Given the description of an element on the screen output the (x, y) to click on. 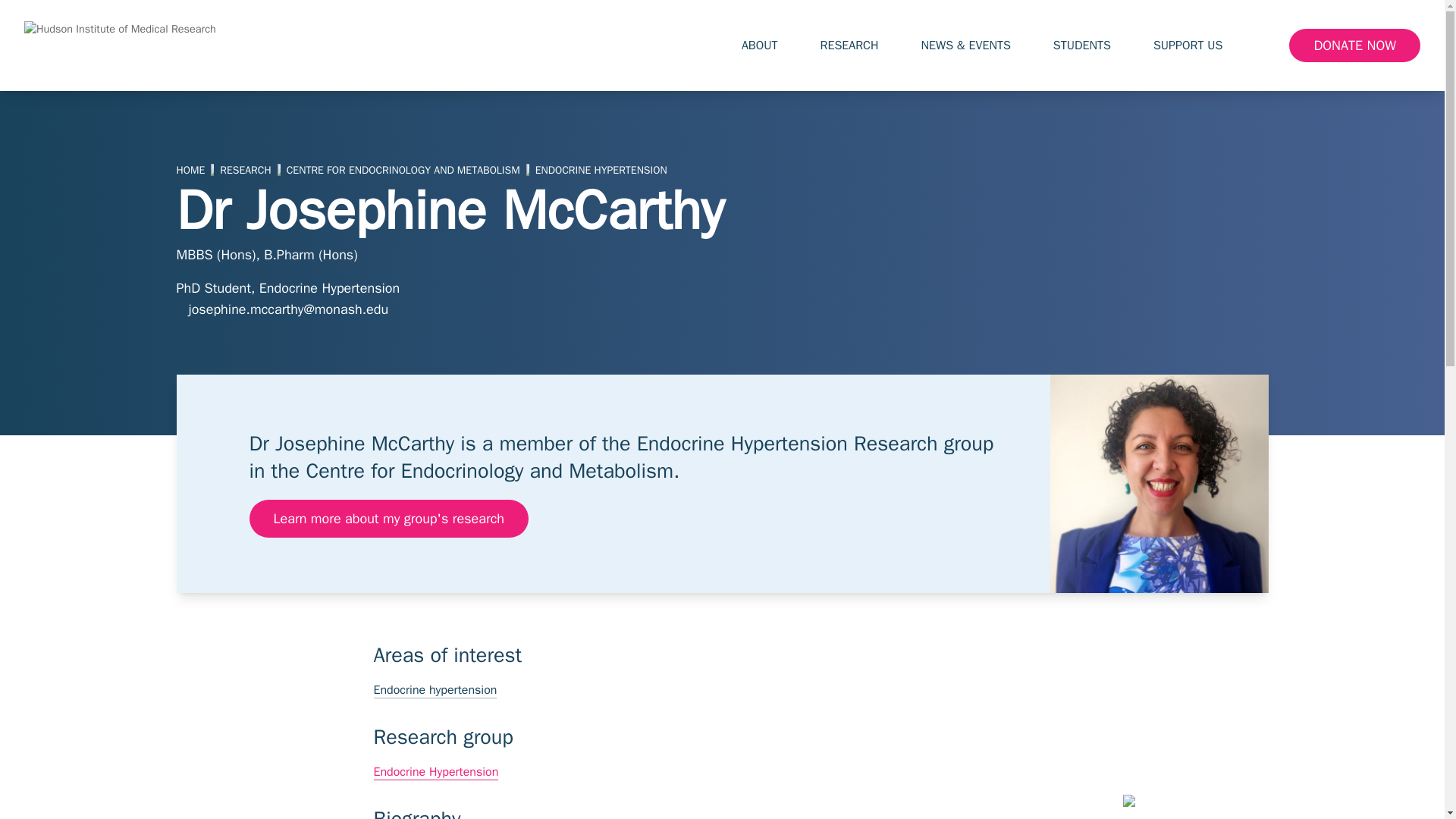
STUDENTS (1091, 45)
RESEARCH (858, 45)
Go to Centre for Endocrinology and Metabolism (402, 170)
ABOUT (768, 45)
Go to Endocrine Hypertension (600, 170)
Go to Research (244, 170)
Go to home (190, 170)
